Given the description of an element on the screen output the (x, y) to click on. 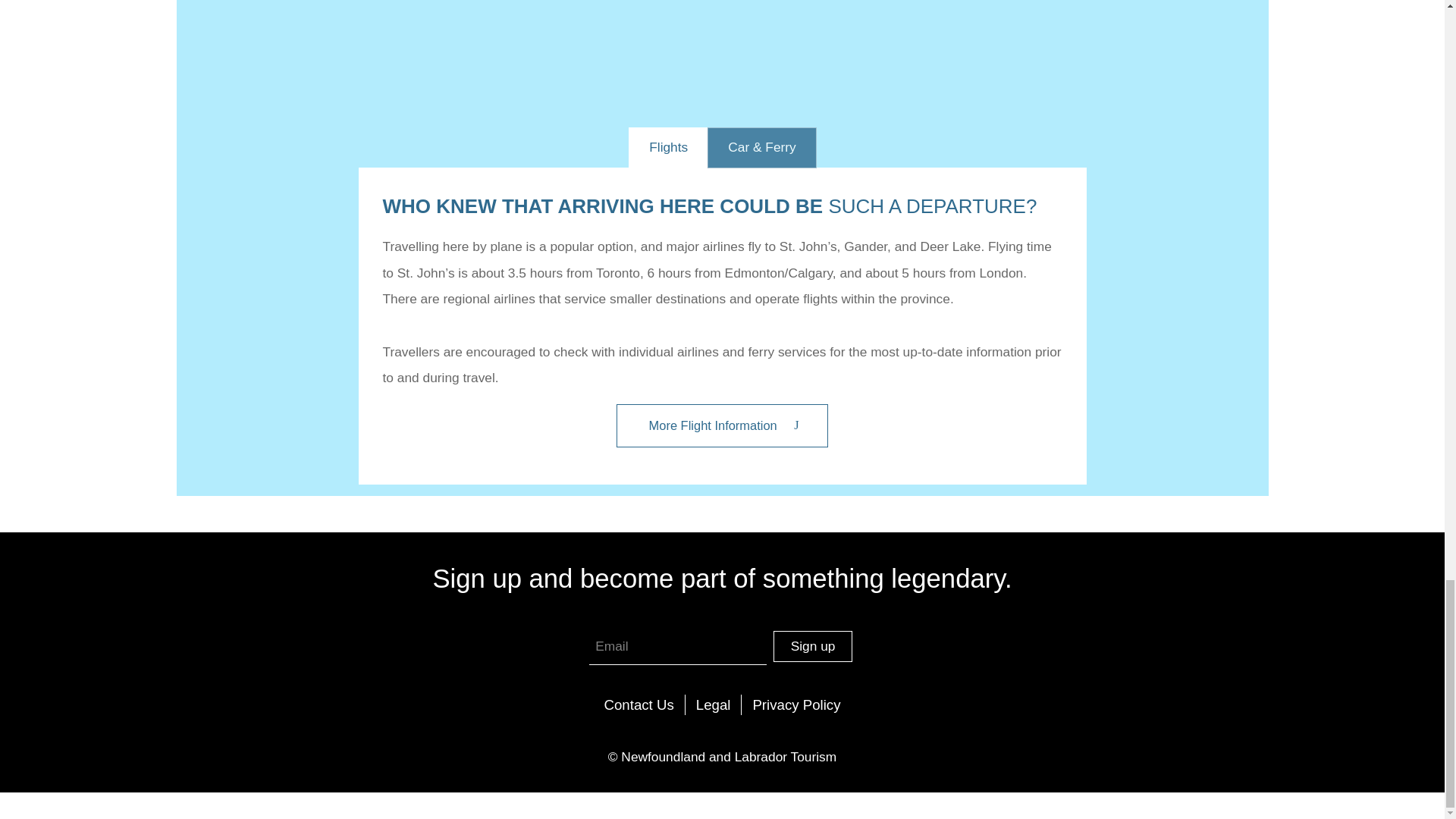
Legal (713, 704)
Sign up (812, 645)
More Flight Information (721, 425)
Contact Us (638, 704)
Privacy Policy (795, 704)
